Given the description of an element on the screen output the (x, y) to click on. 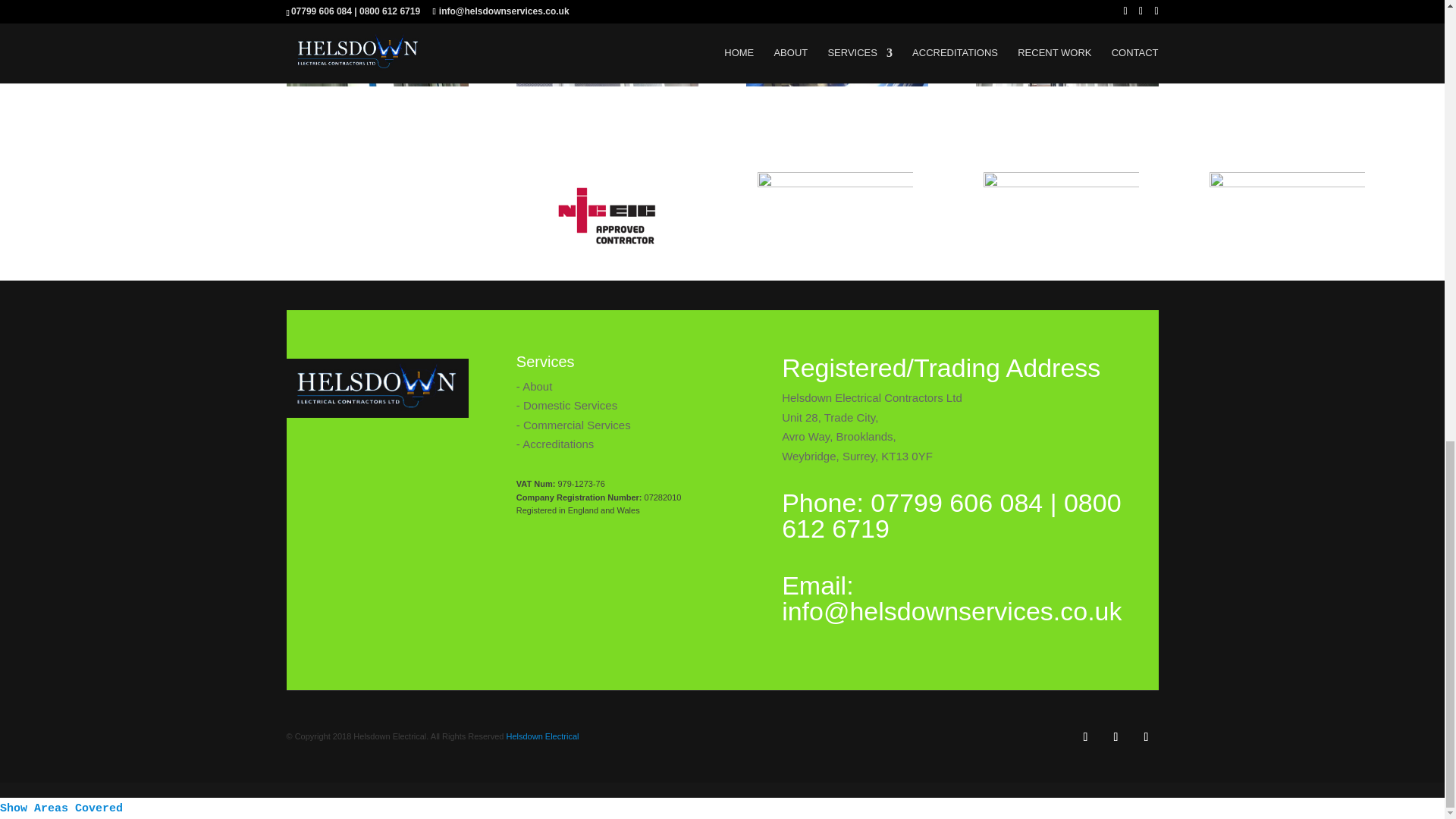
Follow on Twitter (1115, 736)
Follow on Facebook (1085, 736)
Follow on Instagram (1146, 736)
Helsdown Electrical (541, 736)
